Given the description of an element on the screen output the (x, y) to click on. 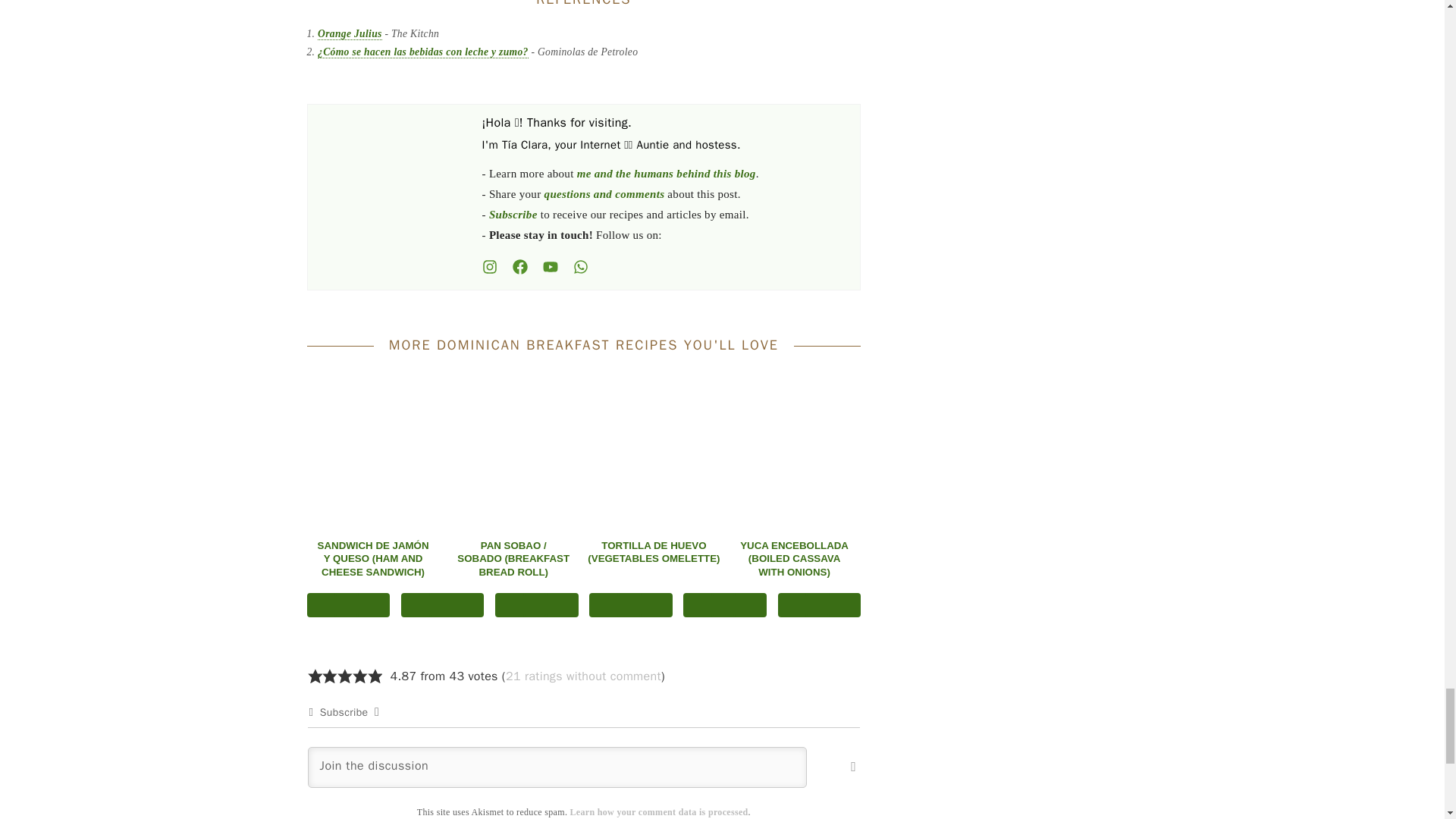
Share on Facebook (347, 604)
Share on WhatsApp (536, 604)
Share on Yummly (630, 604)
Save to Pinterest (442, 604)
Share on Reddit (724, 604)
